Given the description of an element on the screen output the (x, y) to click on. 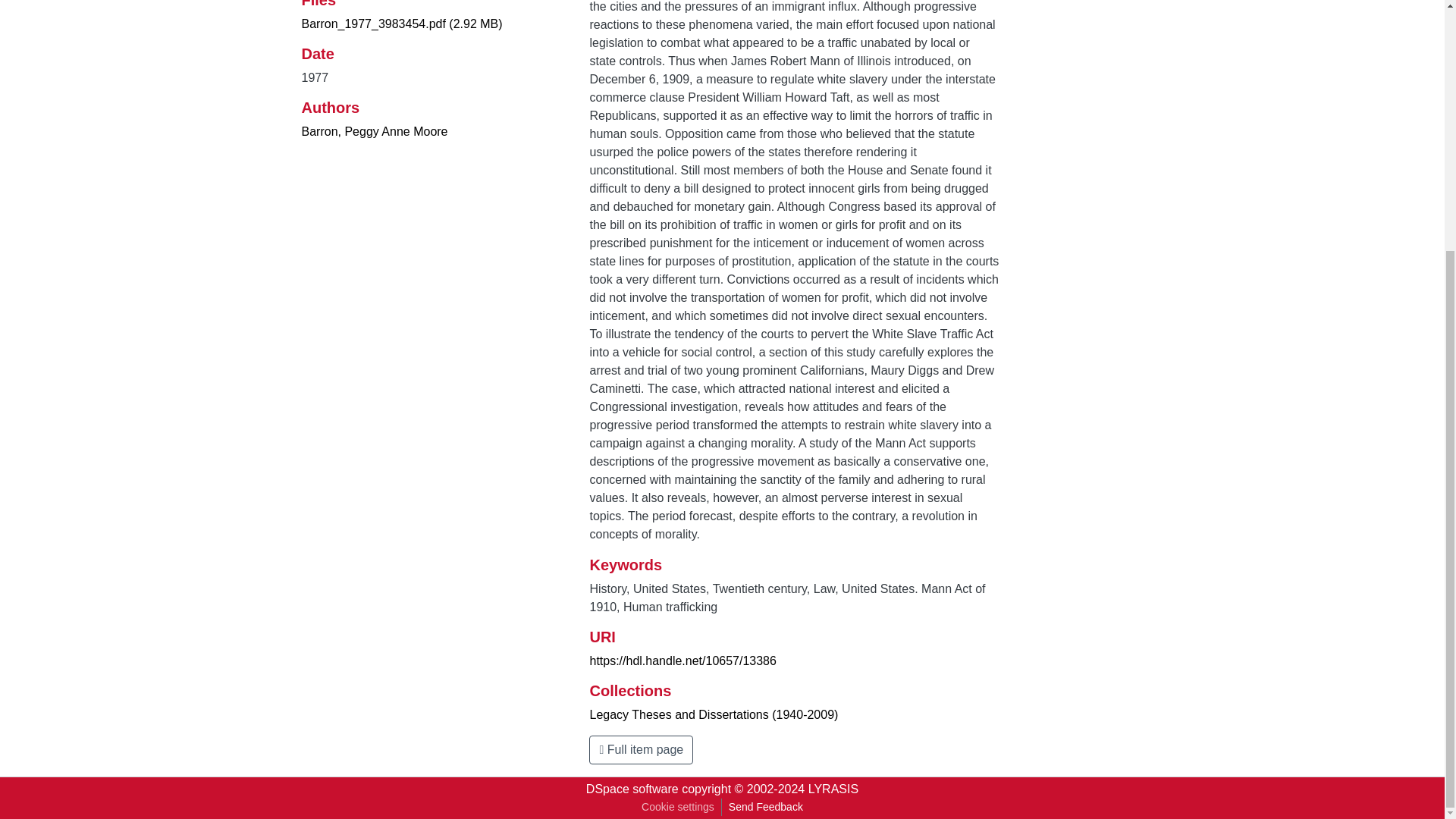
Full item page (641, 749)
DSpace software (632, 788)
Send Feedback (765, 806)
Barron, Peggy Anne Moore (374, 131)
Cookie settings (677, 806)
LYRASIS (833, 788)
